Given the description of an element on the screen output the (x, y) to click on. 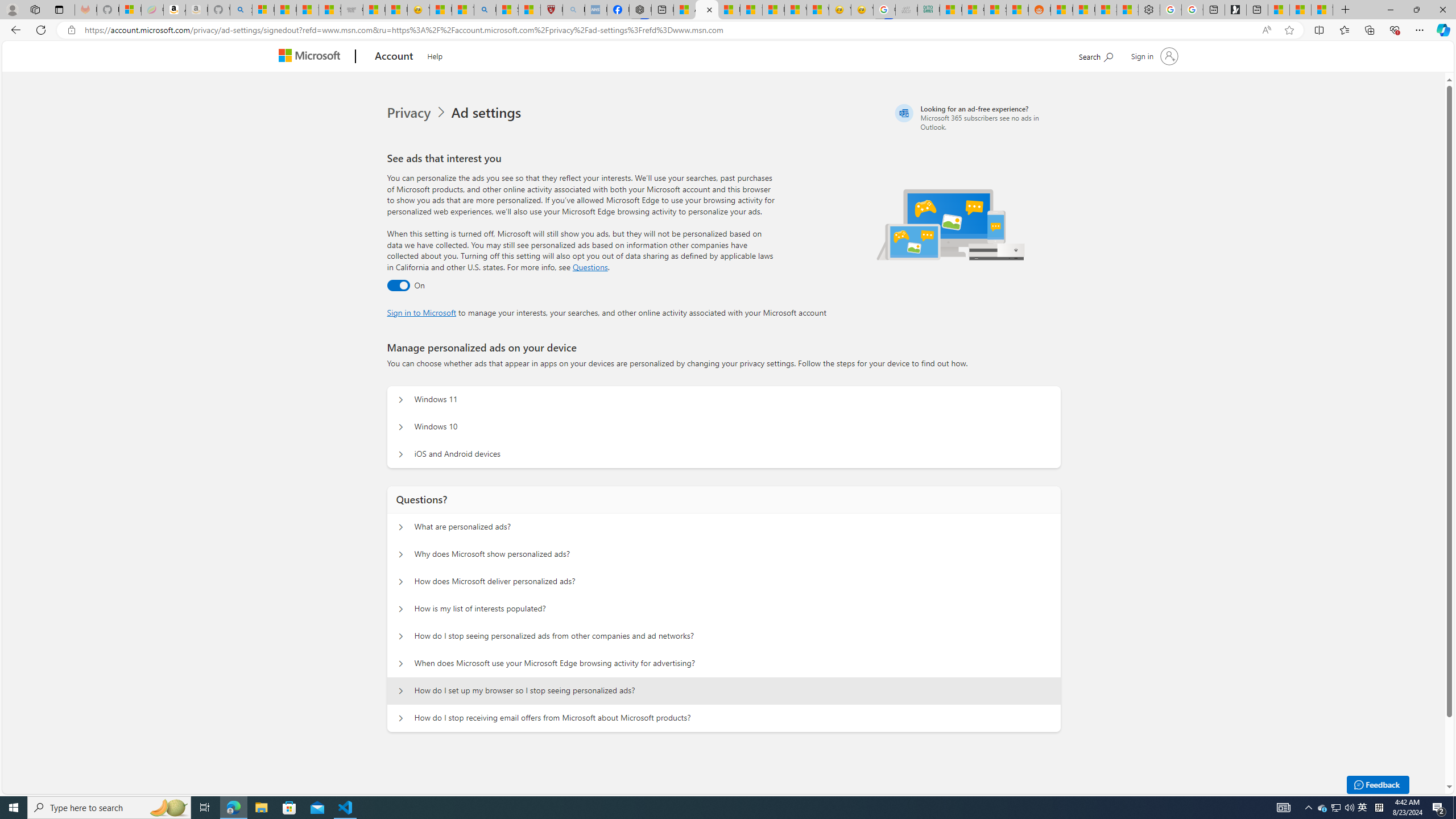
Illustration of multiple devices (951, 224)
